Given the description of an element on the screen output the (x, y) to click on. 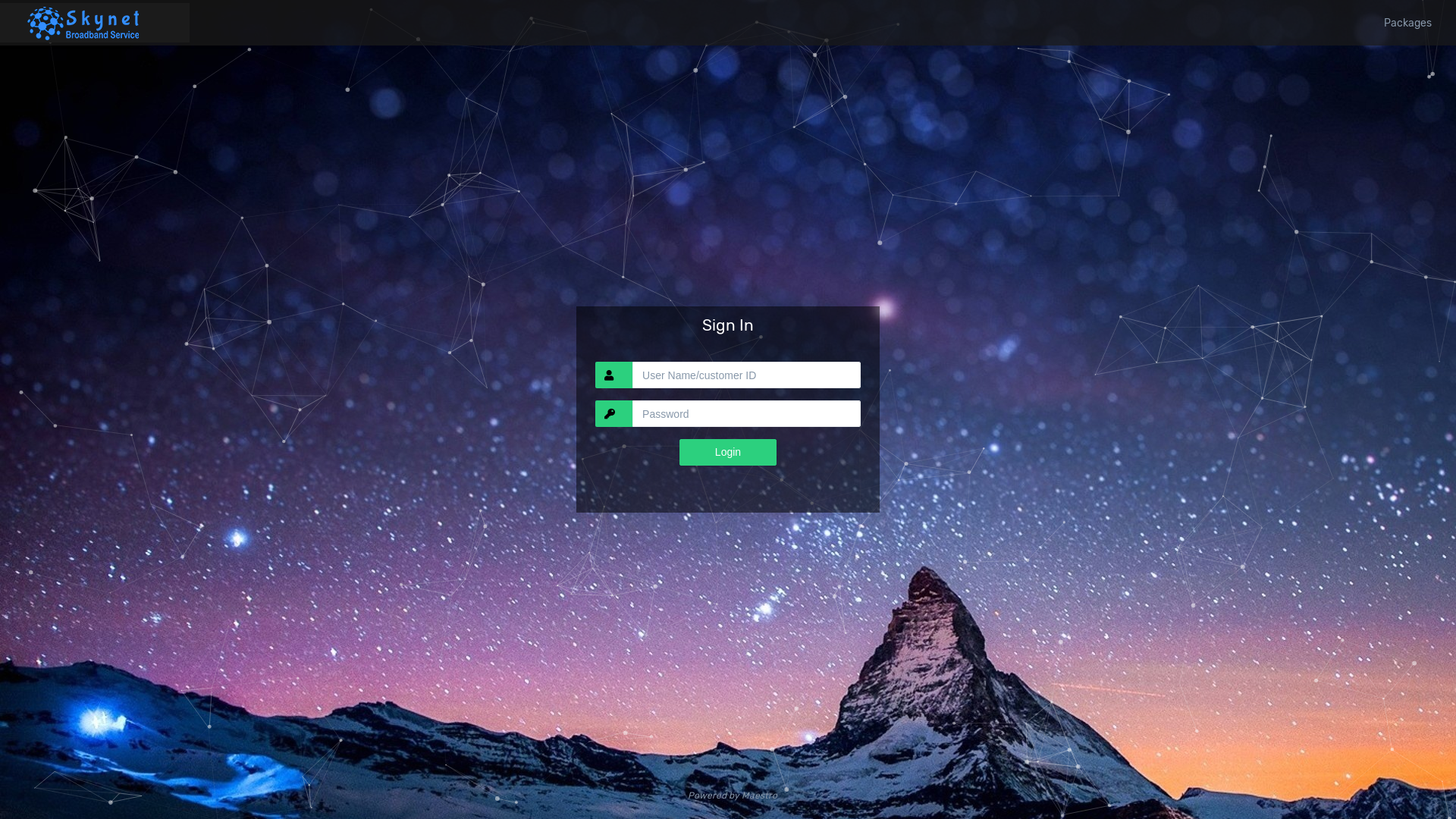
Packages   Element type: text (1409, 22)
Login Element type: text (727, 452)
